Given the description of an element on the screen output the (x, y) to click on. 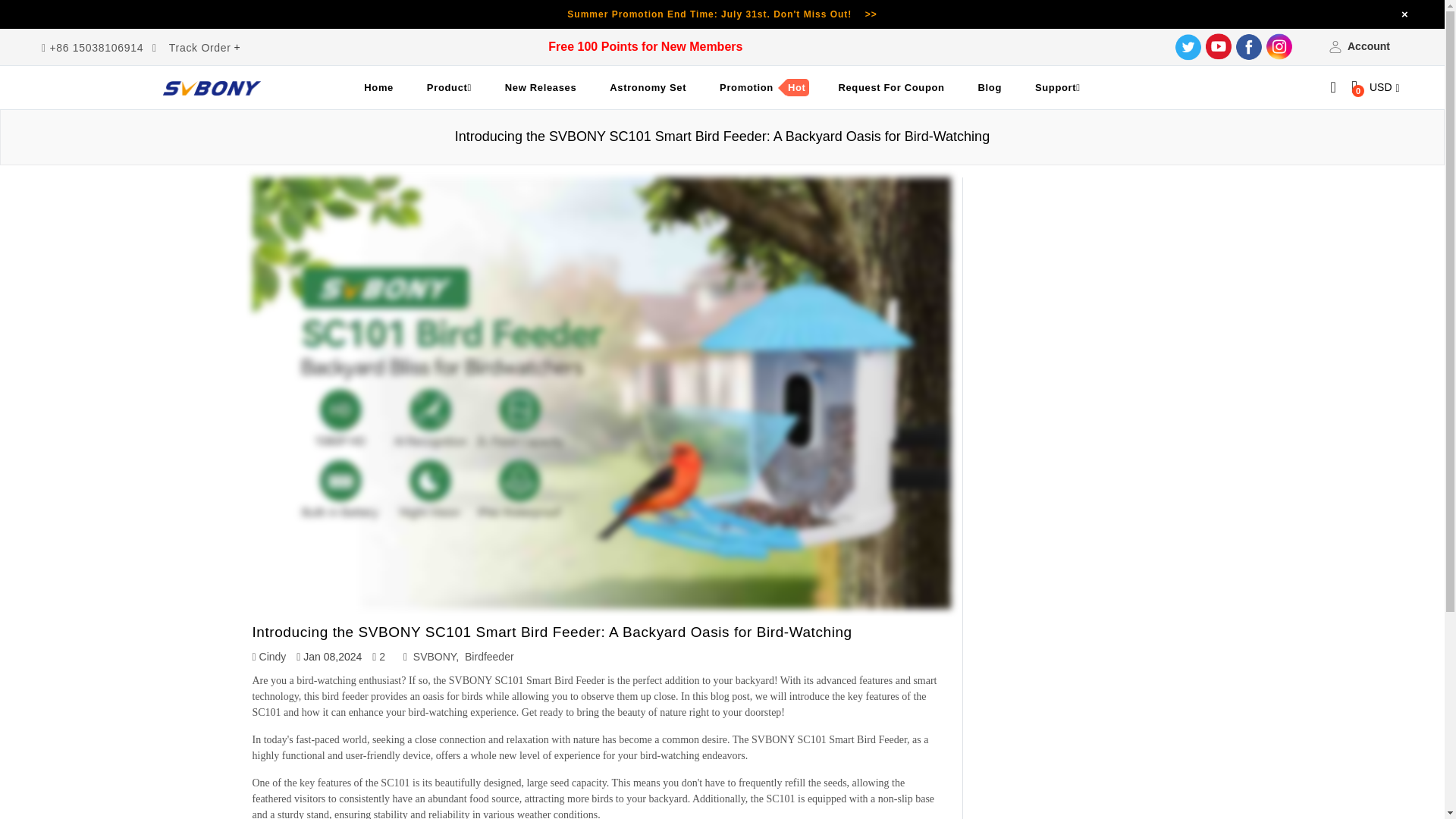
Track Order (199, 47)
Svbony (211, 88)
Home (379, 87)
Support (1058, 87)
Product (449, 87)
